Given the description of an element on the screen output the (x, y) to click on. 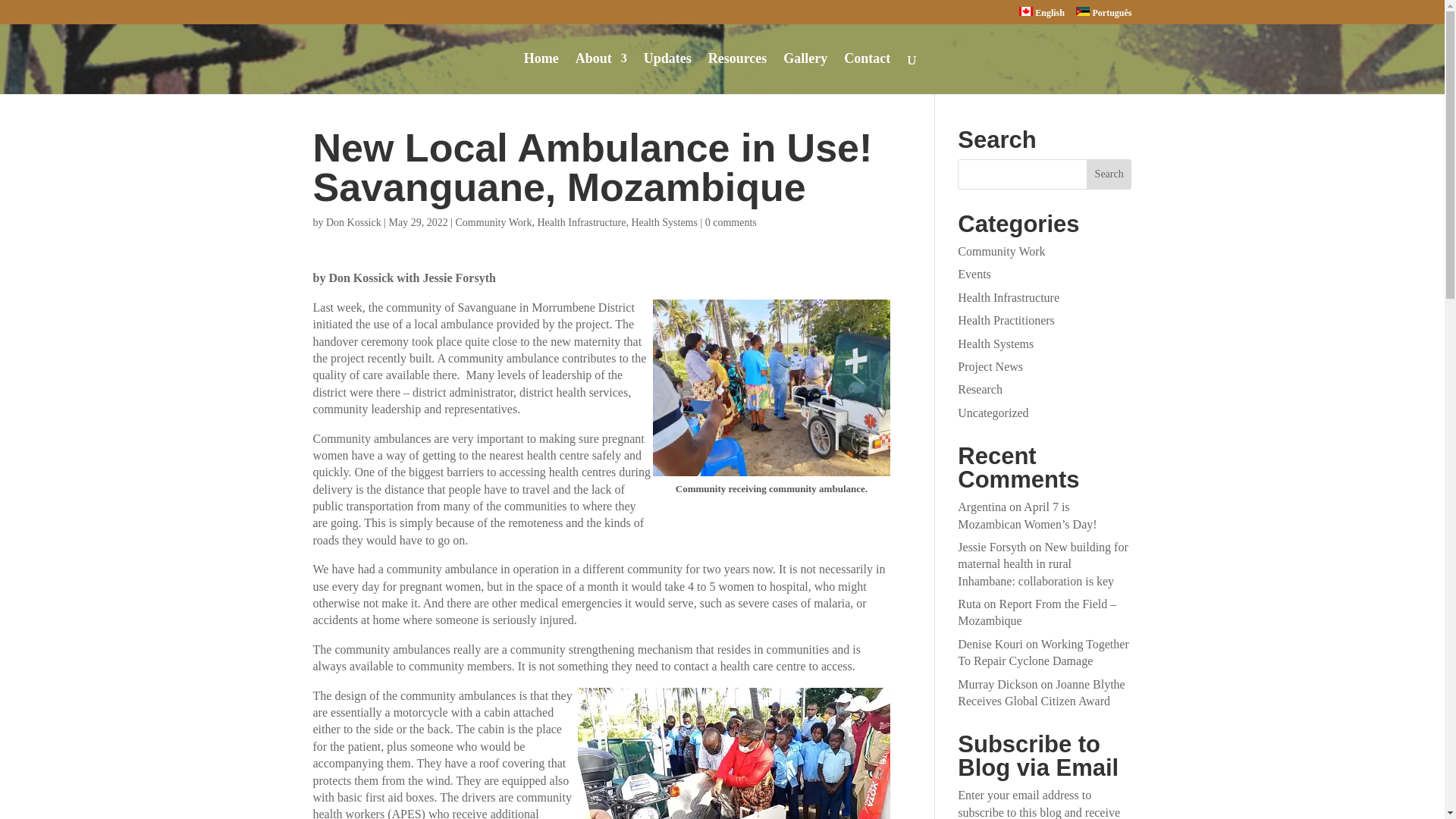
Working Together To Repair Cyclone Damage (1043, 652)
English (1041, 15)
Resources (737, 73)
Project News (990, 366)
Health Systems (663, 222)
Health Infrastructure (1008, 297)
Community Work (493, 222)
Don Kossick (353, 222)
Health Practitioners (1006, 319)
